Given the description of an element on the screen output the (x, y) to click on. 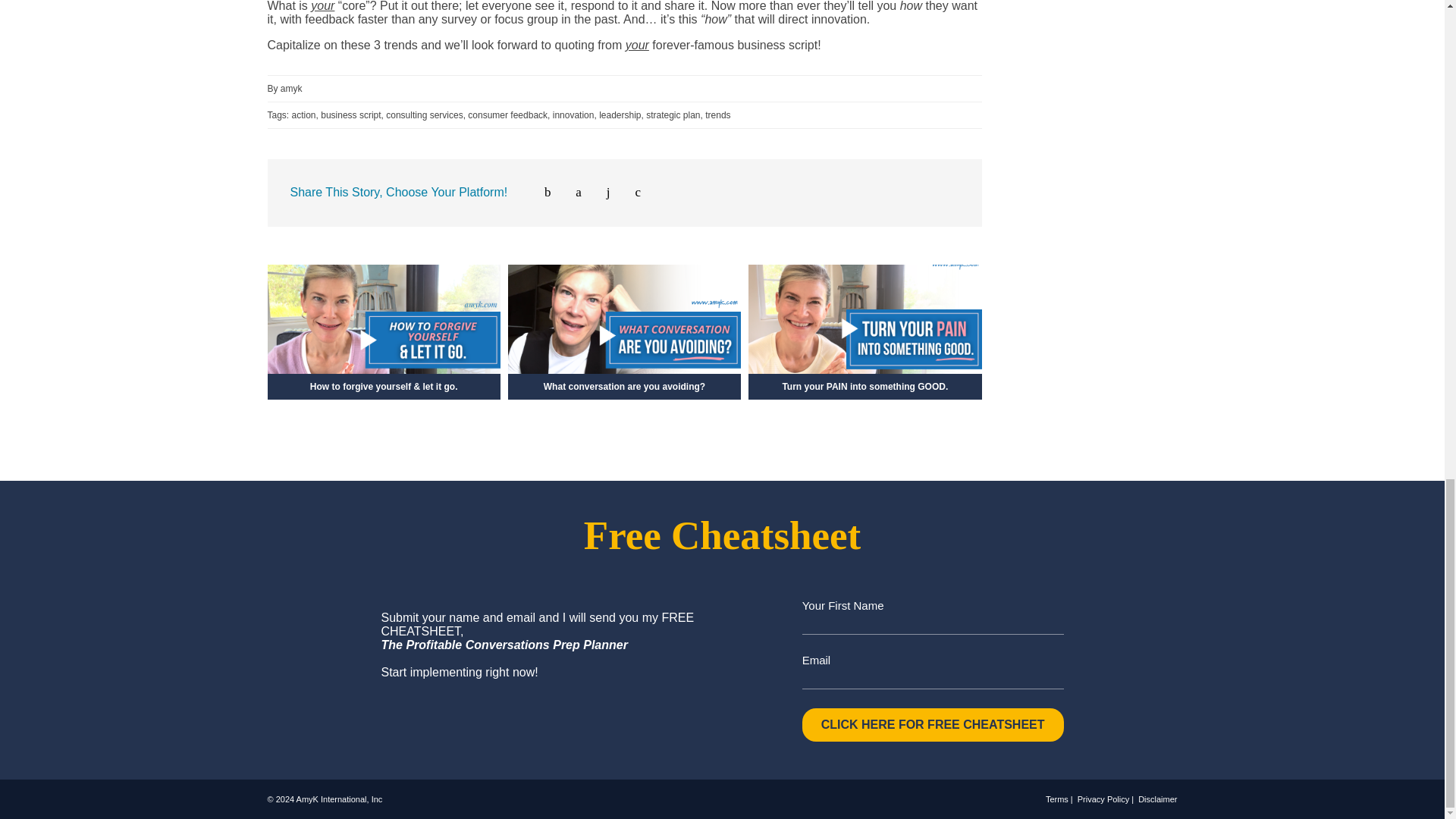
Privacy Policy (1106, 798)
b (539, 192)
a (571, 192)
consumer feedback (507, 114)
innovation (573, 114)
business script (350, 114)
c (629, 192)
j (600, 192)
trends (717, 114)
Disclaimer (1157, 798)
